Given the description of an element on the screen output the (x, y) to click on. 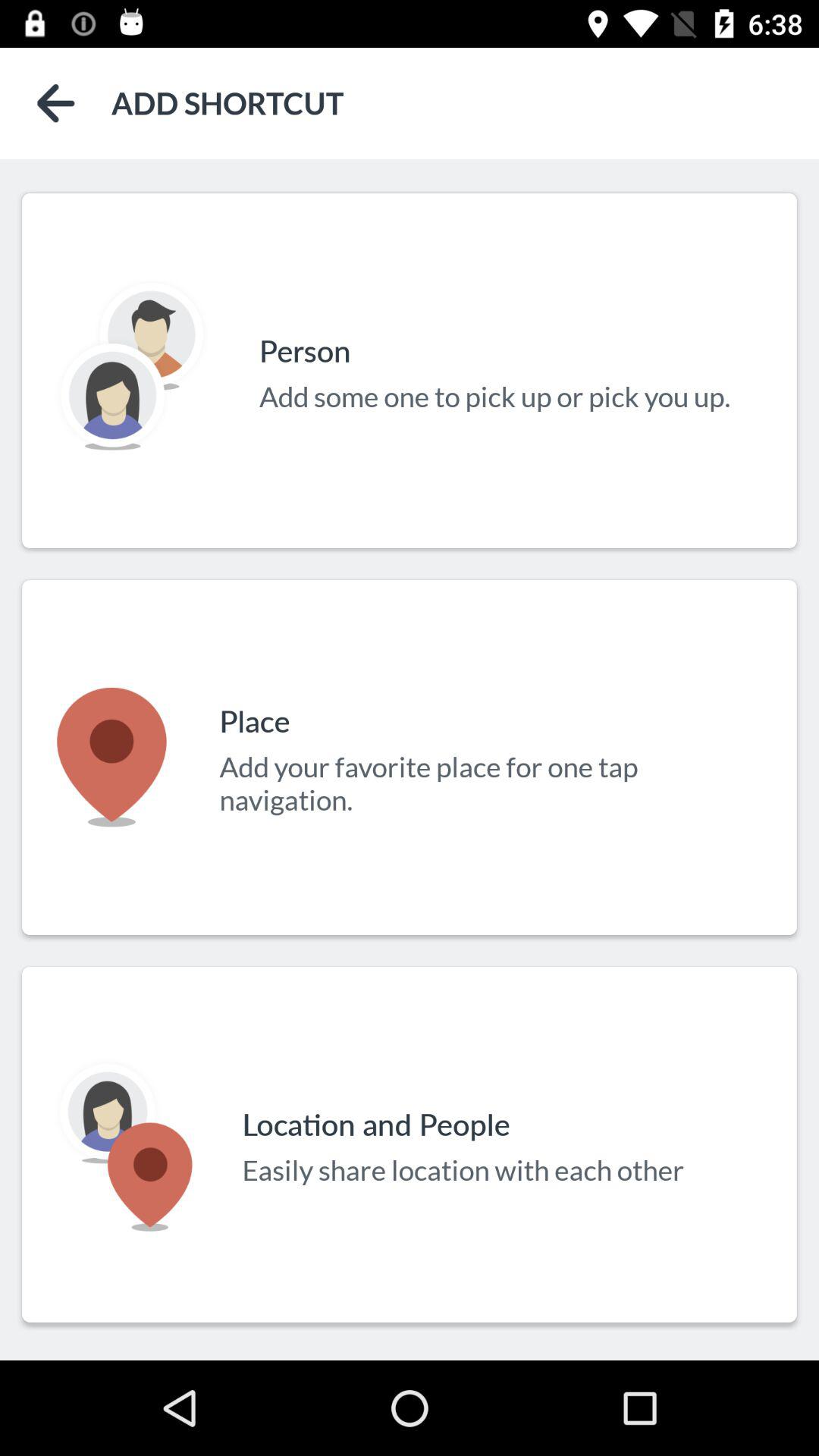
go back (55, 103)
